Given the description of an element on the screen output the (x, y) to click on. 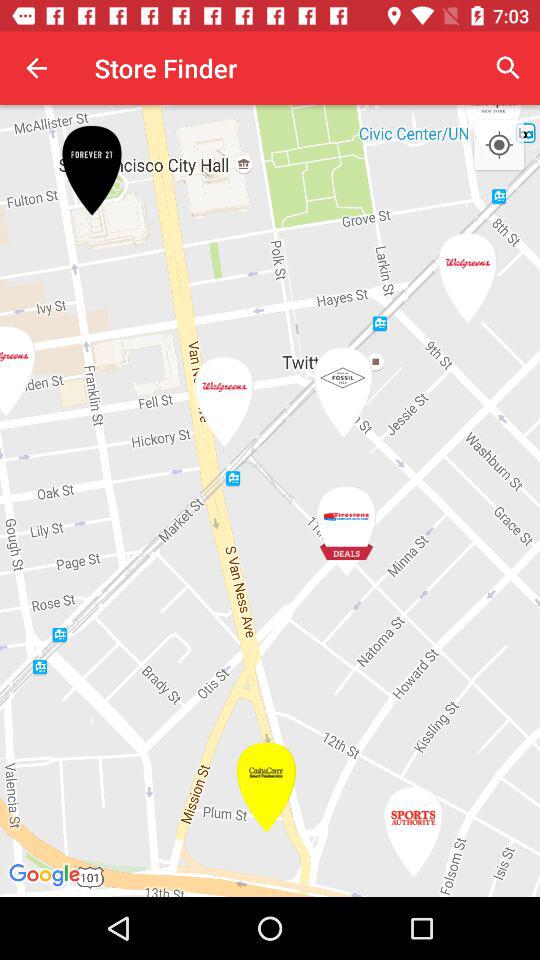
select the app next to store finder icon (36, 68)
